Given the description of an element on the screen output the (x, y) to click on. 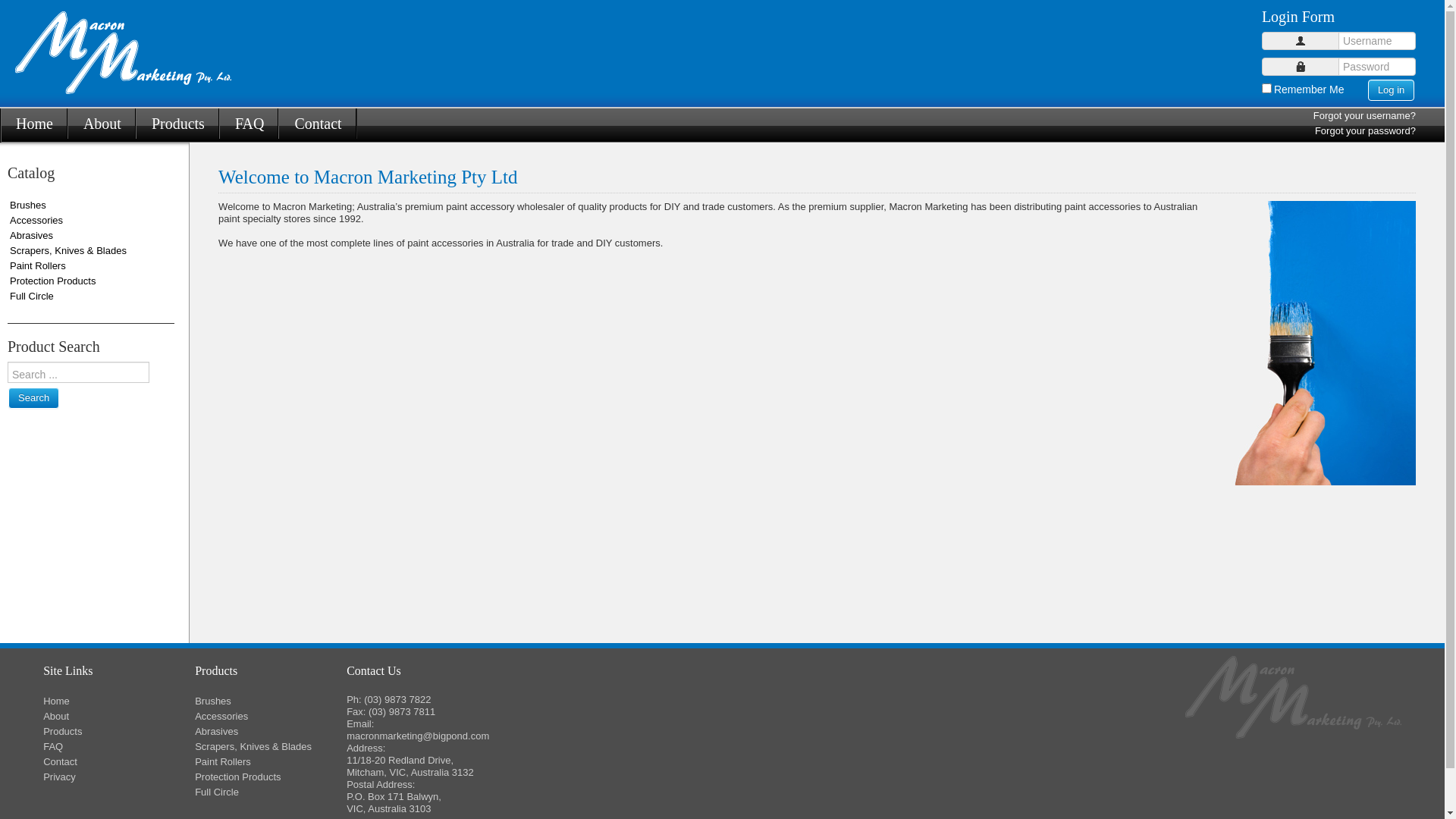
Username Element type: hover (1300, 40)
Home Element type: text (34, 127)
Forgot your password? Element type: text (1364, 130)
Scrapers, Knives & Blades Element type: text (270, 746)
FAQ Element type: text (118, 746)
Products Element type: text (177, 127)
Contact Element type: text (317, 127)
Protection Products Element type: text (270, 776)
Full Circle Element type: text (270, 792)
Password Element type: hover (1300, 66)
About Element type: text (102, 127)
About Element type: text (118, 716)
Brushes Element type: text (270, 701)
Protection Products Element type: text (94, 280)
Abrasives Element type: text (94, 235)
Search Element type: text (33, 397)
Privacy Element type: text (118, 776)
FAQ Element type: text (249, 127)
Paint Rollers Element type: text (270, 761)
Brushes Element type: text (94, 205)
Scrapers, Knives & Blades Element type: text (94, 250)
Accessories Element type: text (270, 716)
Accessories Element type: text (94, 220)
Products Element type: text (118, 731)
Forgot your username? Element type: text (1364, 115)
Log in Element type: text (1391, 89)
Home Element type: text (118, 701)
Contact Element type: text (118, 761)
Abrasives Element type: text (270, 731)
Paint Rollers Element type: text (94, 265)
Full Circle Element type: text (94, 296)
